Given the description of an element on the screen output the (x, y) to click on. 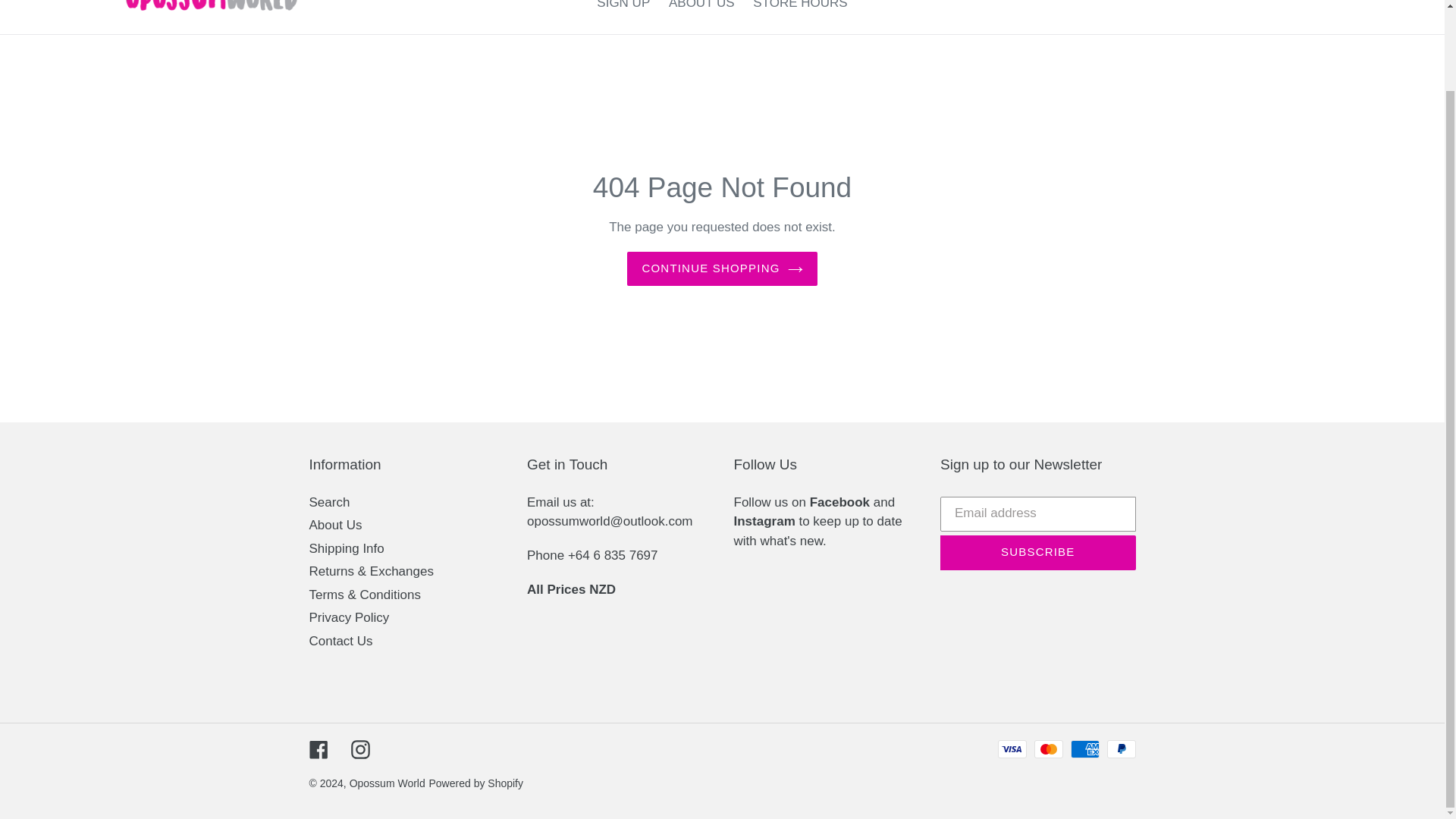
ABOUT US (701, 7)
SIGN UP (623, 7)
